Given the description of an element on the screen output the (x, y) to click on. 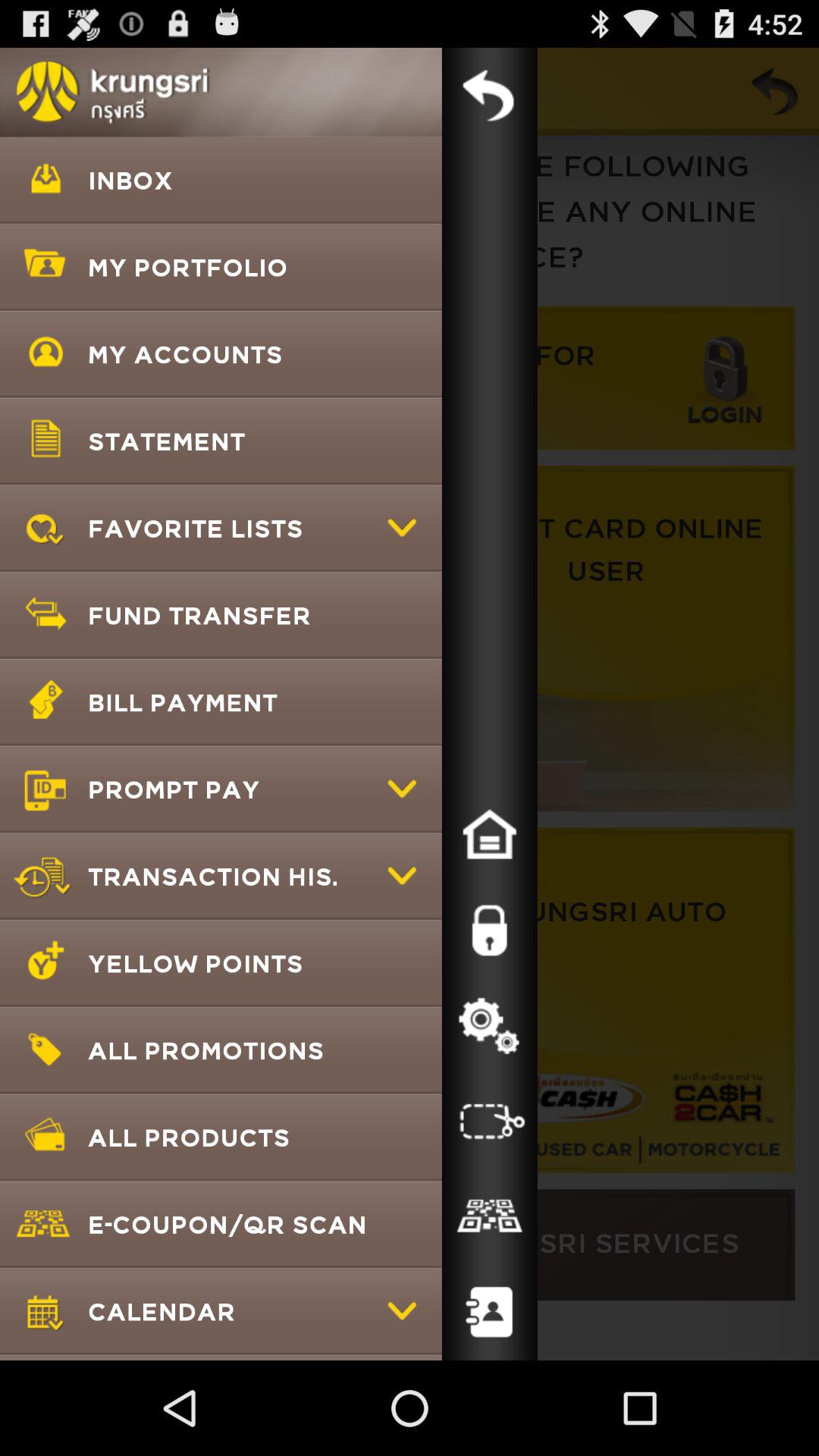
qr scan (489, 1216)
